Given the description of an element on the screen output the (x, y) to click on. 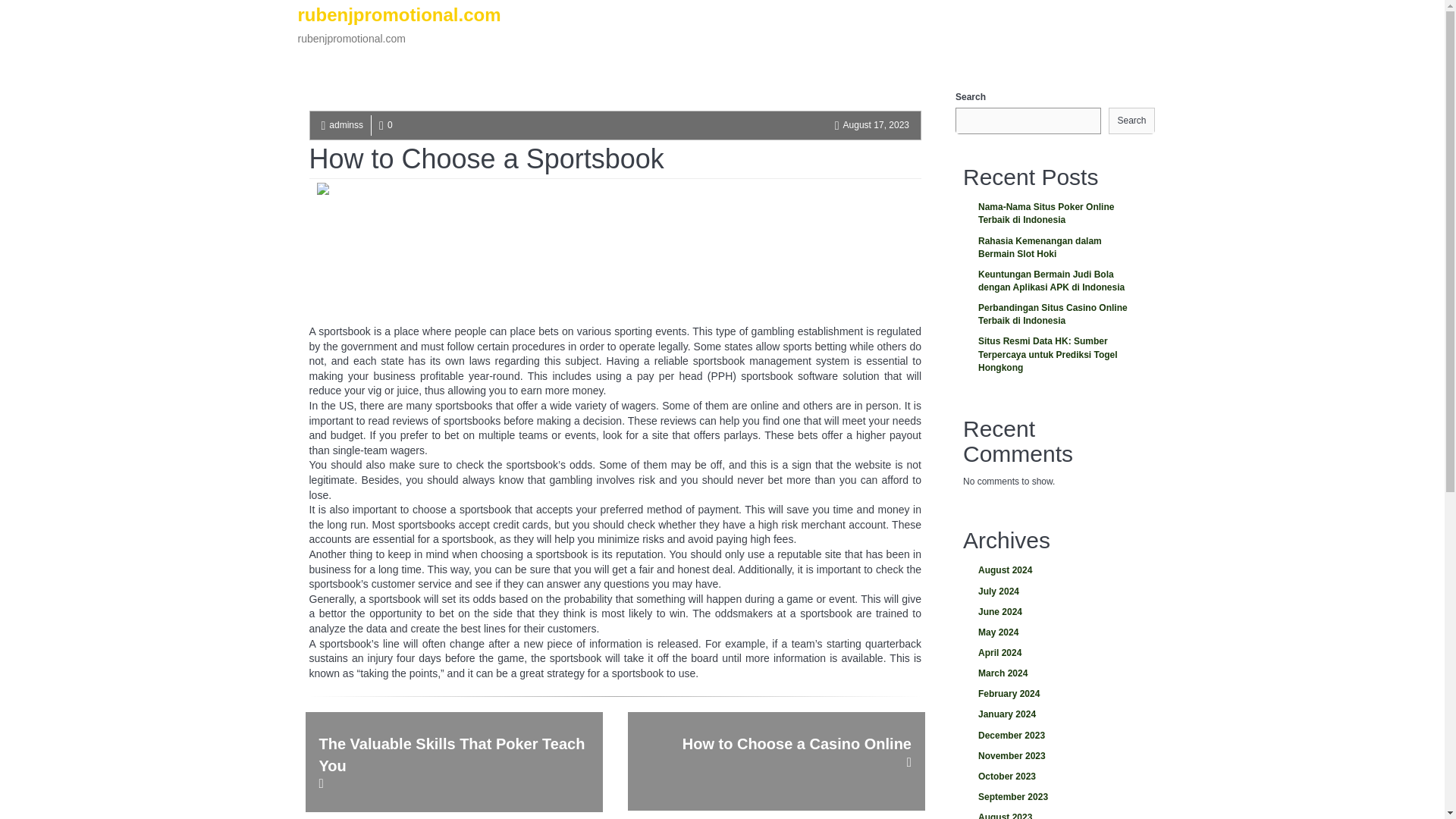
April 2024 (1054, 652)
adminss (345, 124)
August 2023 (1054, 813)
March 2024 (1054, 673)
How to Choose a Casino Online (775, 760)
October 2023 (398, 33)
December 2023 (1054, 776)
August 2024 (1054, 735)
May 2024 (1054, 570)
